Given the description of an element on the screen output the (x, y) to click on. 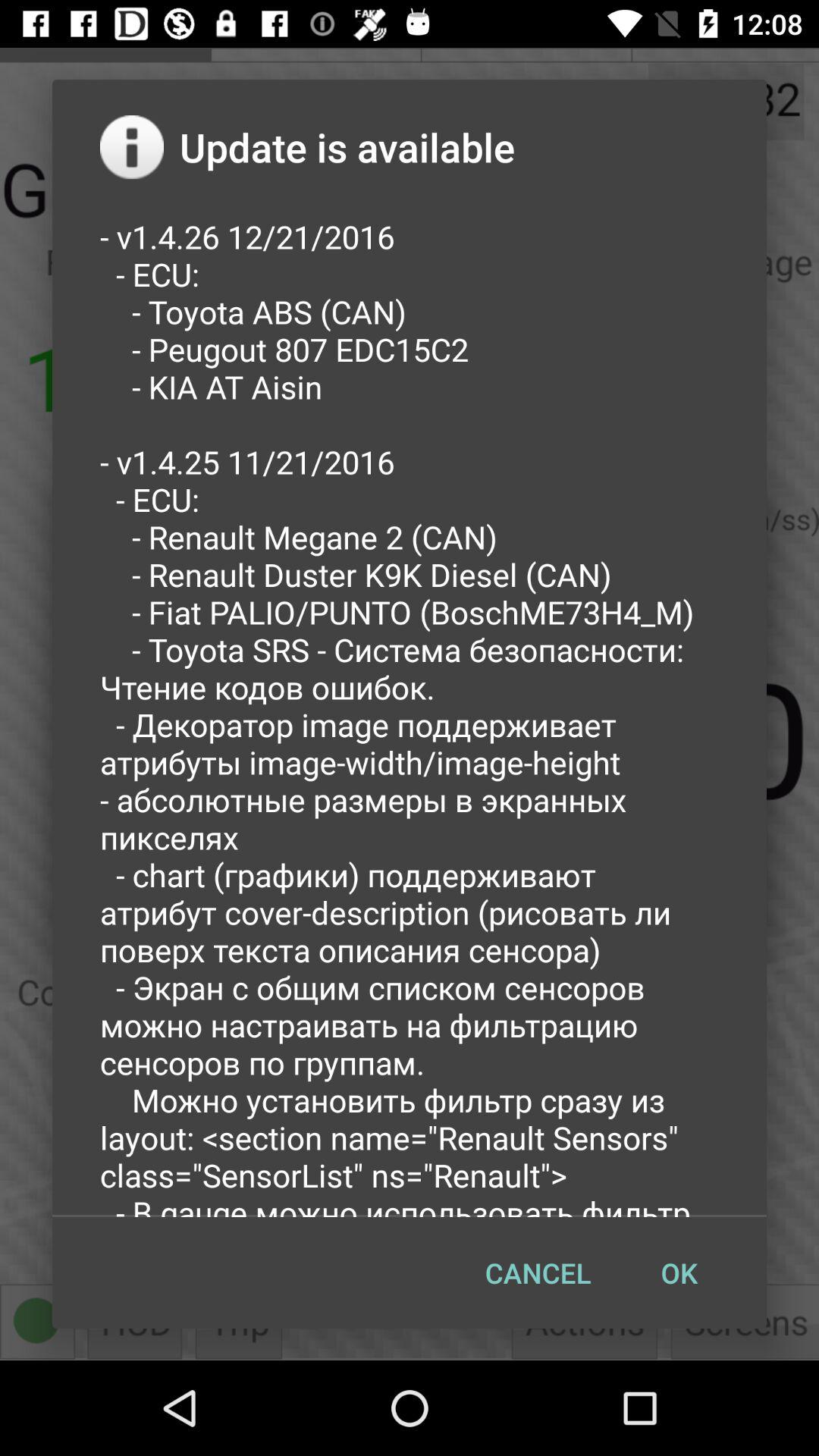
flip until the ok item (678, 1272)
